Given the description of an element on the screen output the (x, y) to click on. 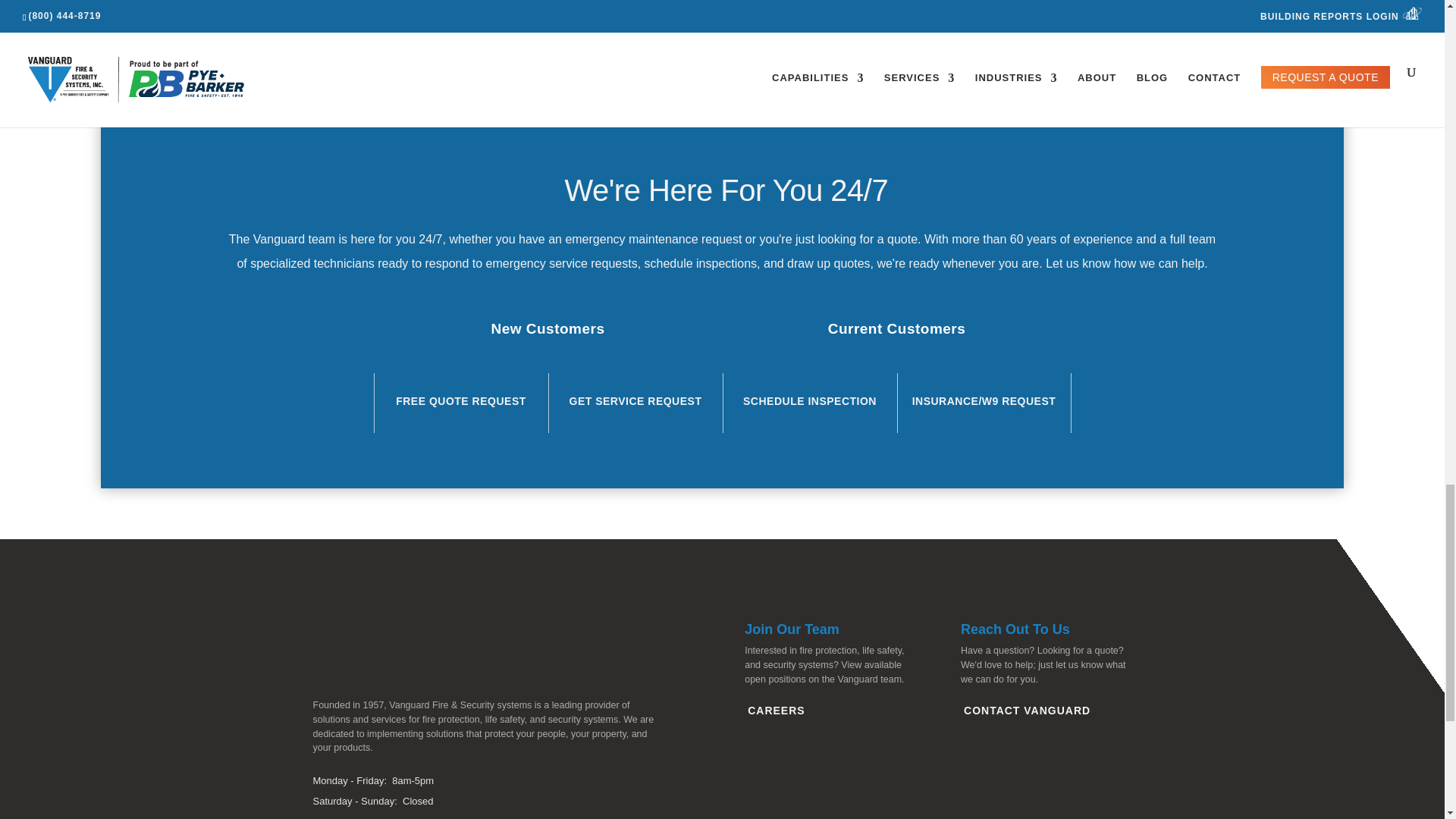
Form 0 (722, 4)
